Given the description of an element on the screen output the (x, y) to click on. 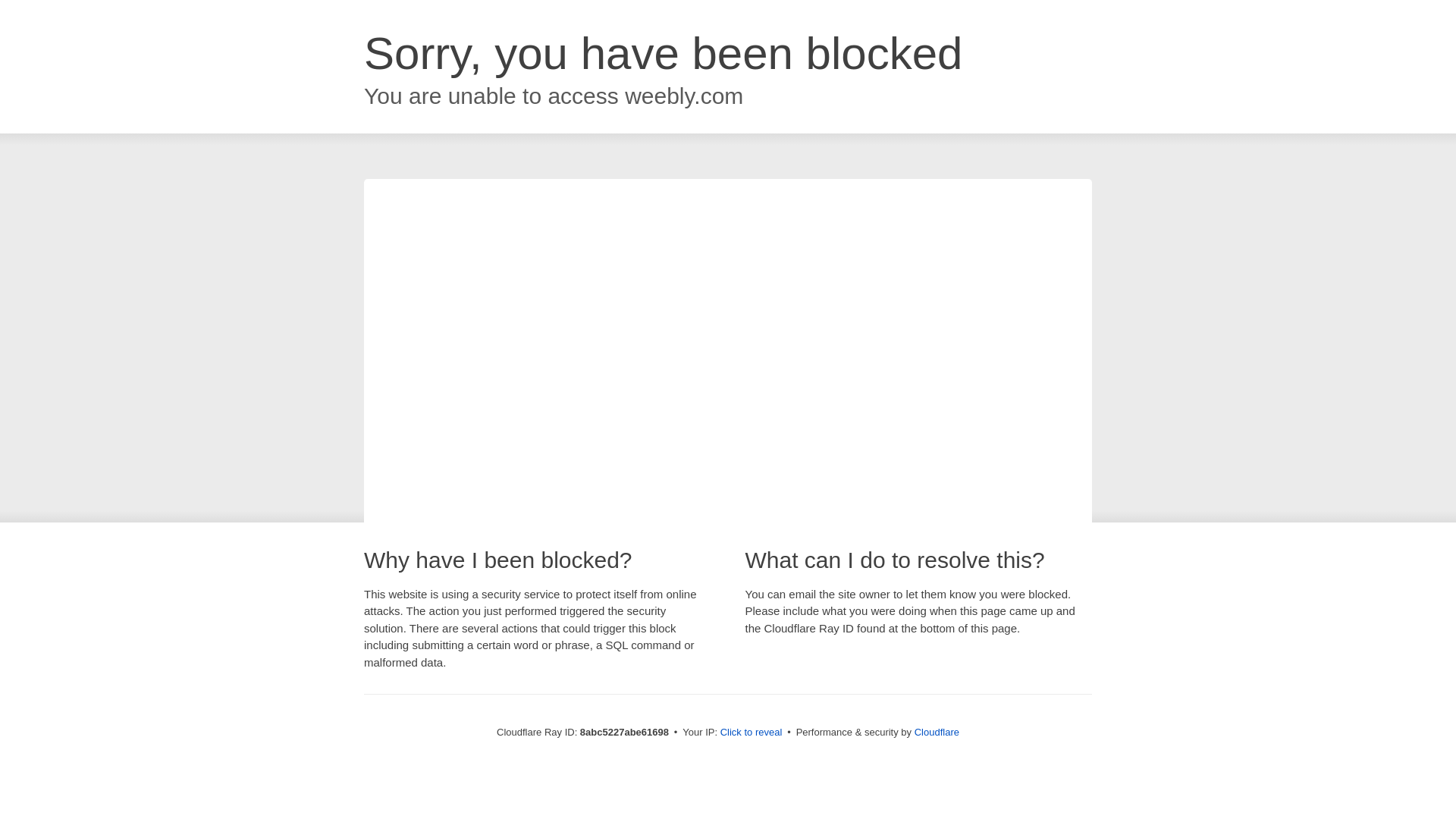
Cloudflare (936, 731)
Click to reveal (751, 732)
